Given the description of an element on the screen output the (x, y) to click on. 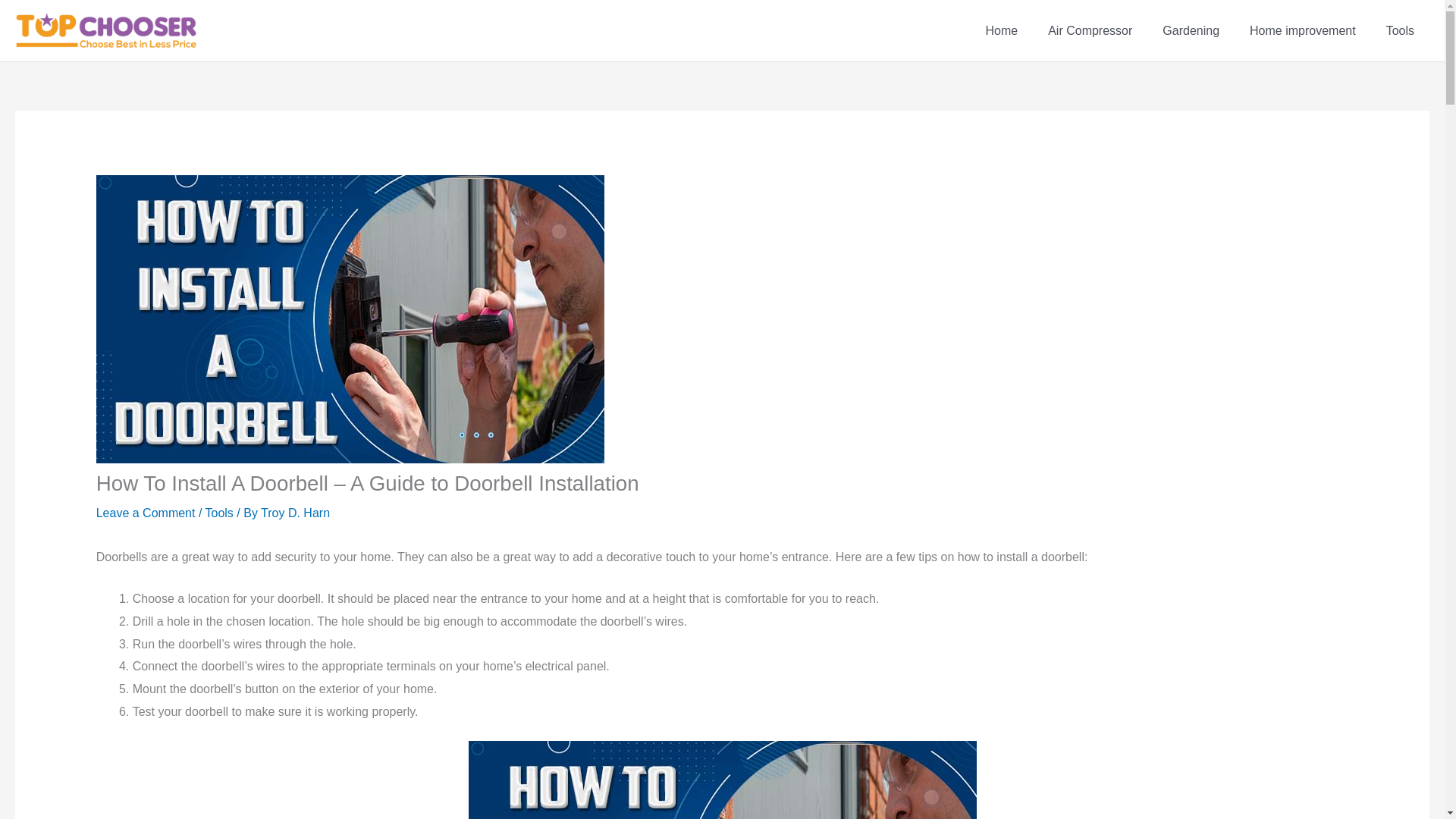
Troy D. Harn (295, 512)
Gardening (1190, 29)
Home improvement (1302, 29)
Air Compressor (1089, 29)
Tools (218, 512)
Leave a Comment (145, 512)
Home (1000, 29)
Tools (1400, 29)
View all posts by Troy D. Harn (295, 512)
